Given the description of an element on the screen output the (x, y) to click on. 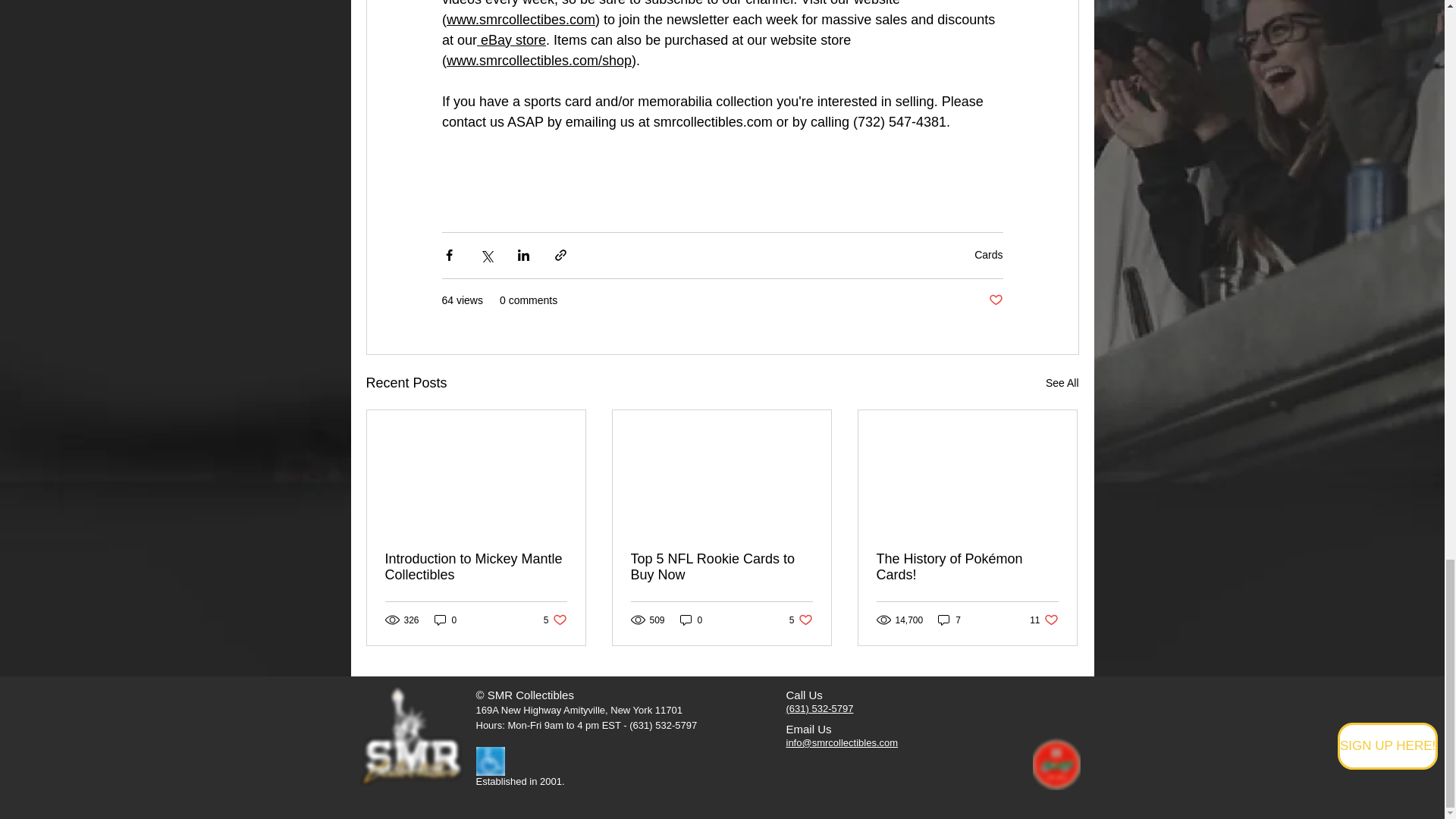
Facebook Like (1055, 694)
Post not marked as liked (995, 300)
Twitter Follow (1055, 719)
See All (1061, 382)
Cards (988, 254)
